Given the description of an element on the screen output the (x, y) to click on. 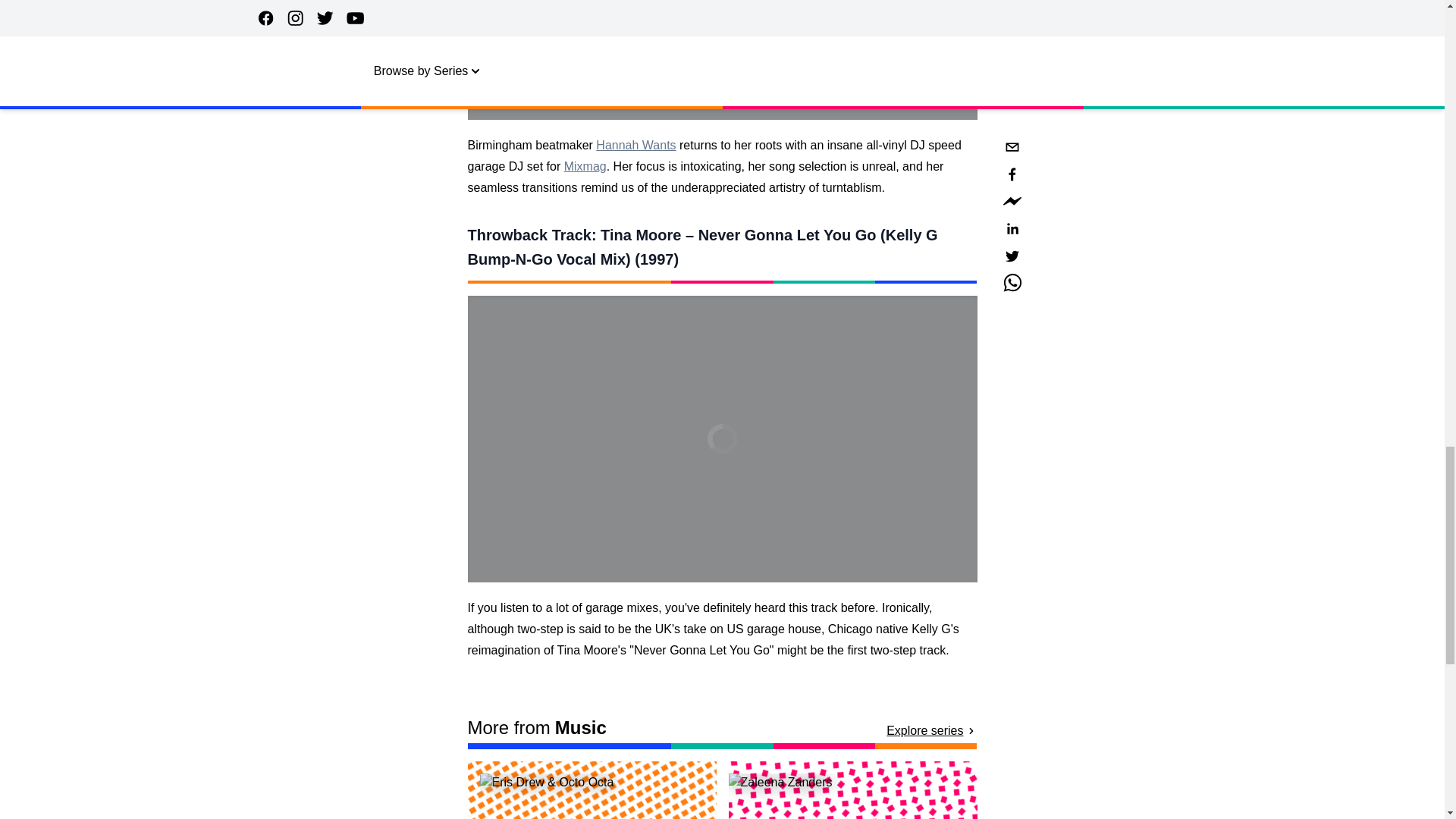
Mixmag (585, 165)
Explore series (931, 730)
Hannah Wants (635, 144)
